Given the description of an element on the screen output the (x, y) to click on. 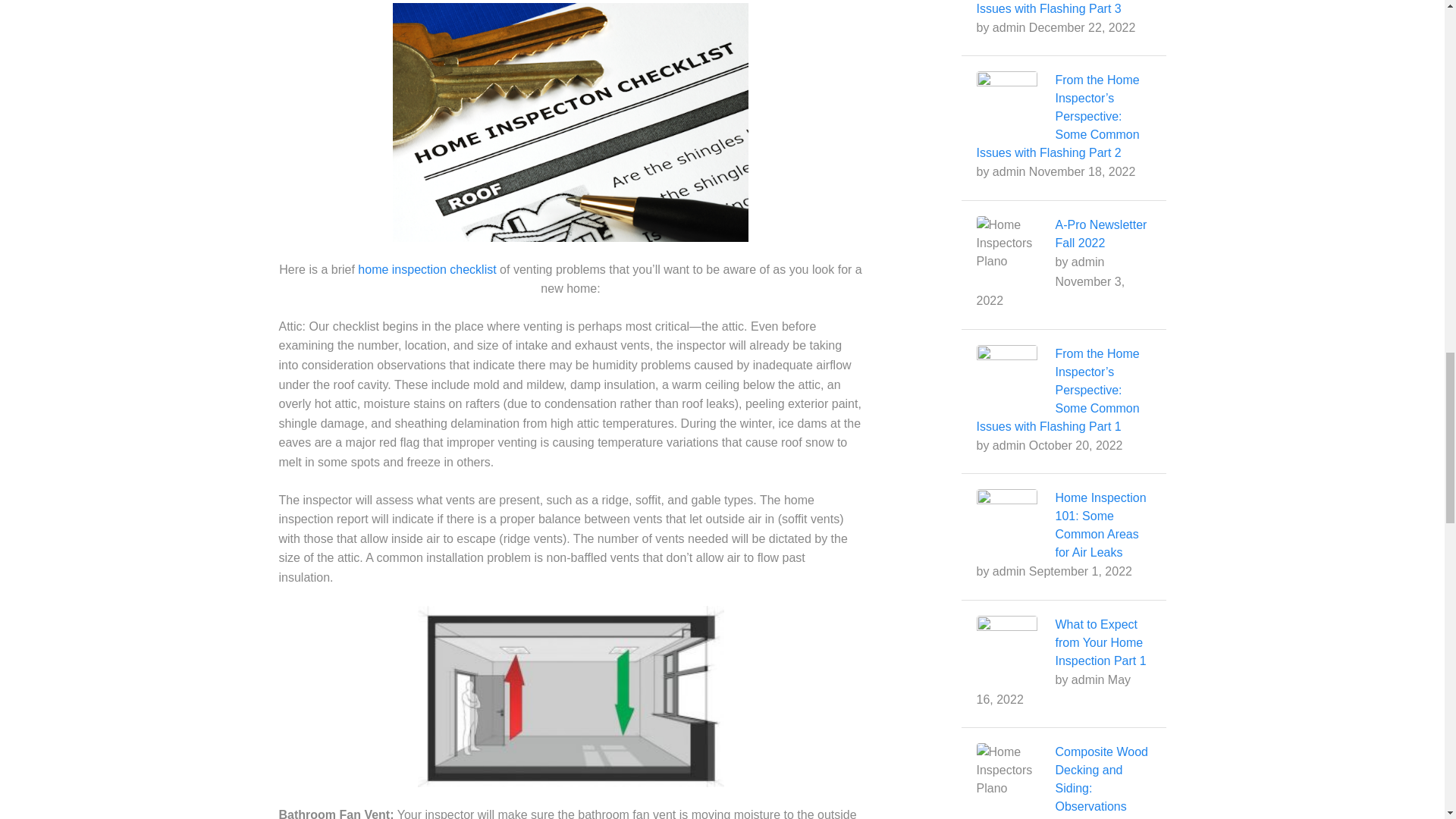
Home Inspection 101: Some Common Areas for Air Leaks (1101, 524)
A-Pro Newsletter Fall 2022 (1101, 233)
home inspection checklist (427, 269)
